Given the description of an element on the screen output the (x, y) to click on. 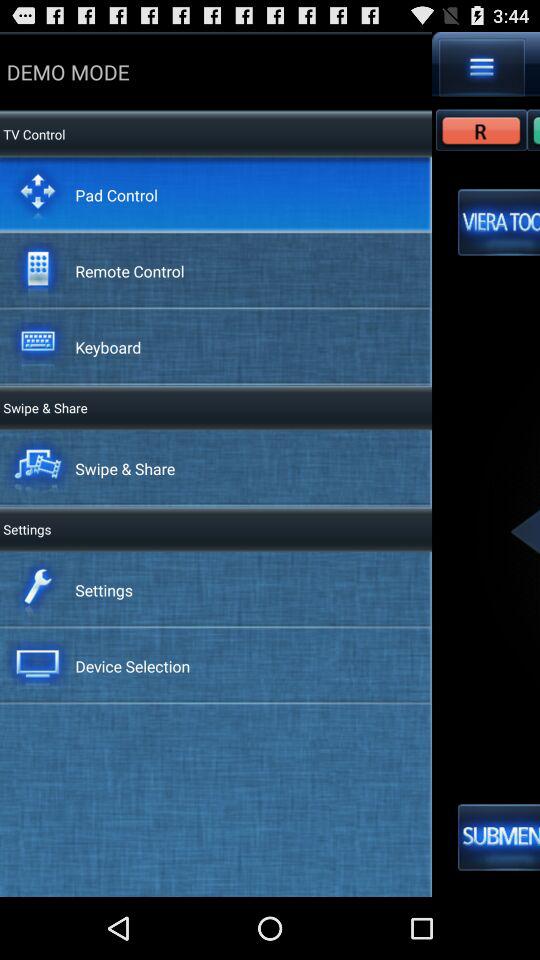
open item below demo mode app (116, 194)
